Given the description of an element on the screen output the (x, y) to click on. 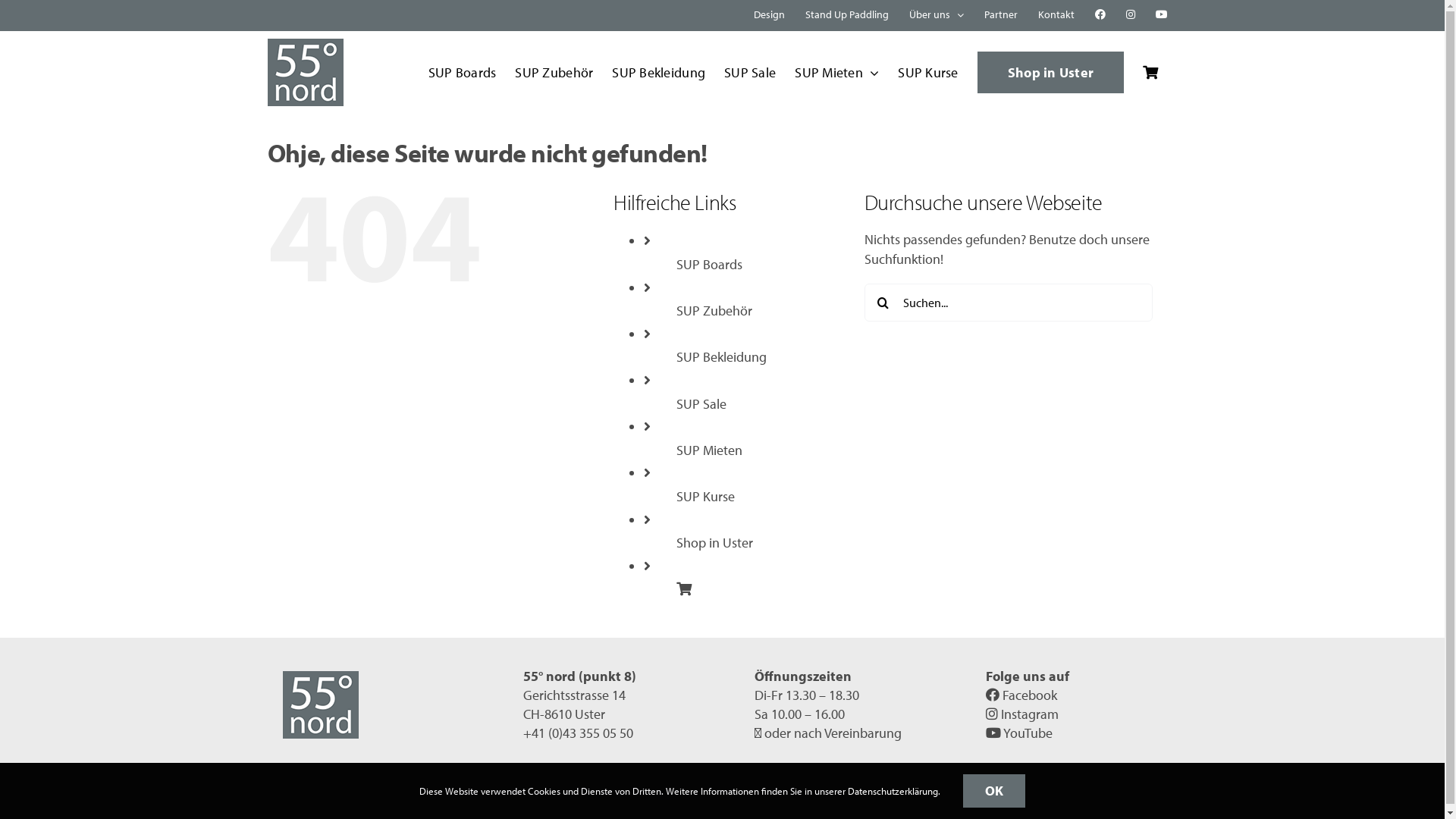
SUP Sale Element type: text (749, 72)
logo-100 Element type: hover (319, 704)
SUP Bekleidung Element type: text (721, 356)
SUP Kurse Element type: text (927, 72)
OK Element type: text (994, 790)
YouTube Element type: text (1018, 732)
oder nach Vereinbarung Element type: text (832, 732)
SUP Kurse Element type: text (705, 496)
Shop in Uster Element type: text (1050, 72)
Instagram Element type: text (1021, 713)
SUP Sale Element type: text (701, 403)
SUP Mieten Element type: text (709, 449)
Shop in Uster Element type: text (714, 542)
Design Element type: text (768, 15)
Stand Up Paddling Element type: text (845, 15)
Facebook Element type: text (1021, 694)
SUP Boards Element type: text (462, 72)
SUP Mieten Element type: text (836, 72)
Impressum Element type: text (695, 804)
Kontakt Element type: text (1056, 15)
Partner Element type: text (999, 15)
SUP Bekleidung Element type: text (658, 72)
SUP Boards Element type: text (709, 264)
